Given the description of an element on the screen output the (x, y) to click on. 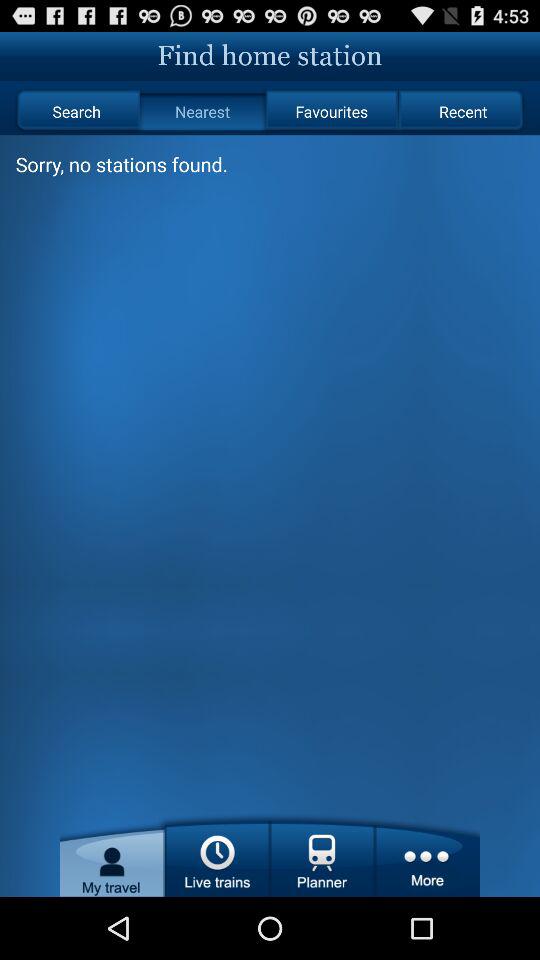
choose the icon below the sorry no stations (217, 854)
